Given the description of an element on the screen output the (x, y) to click on. 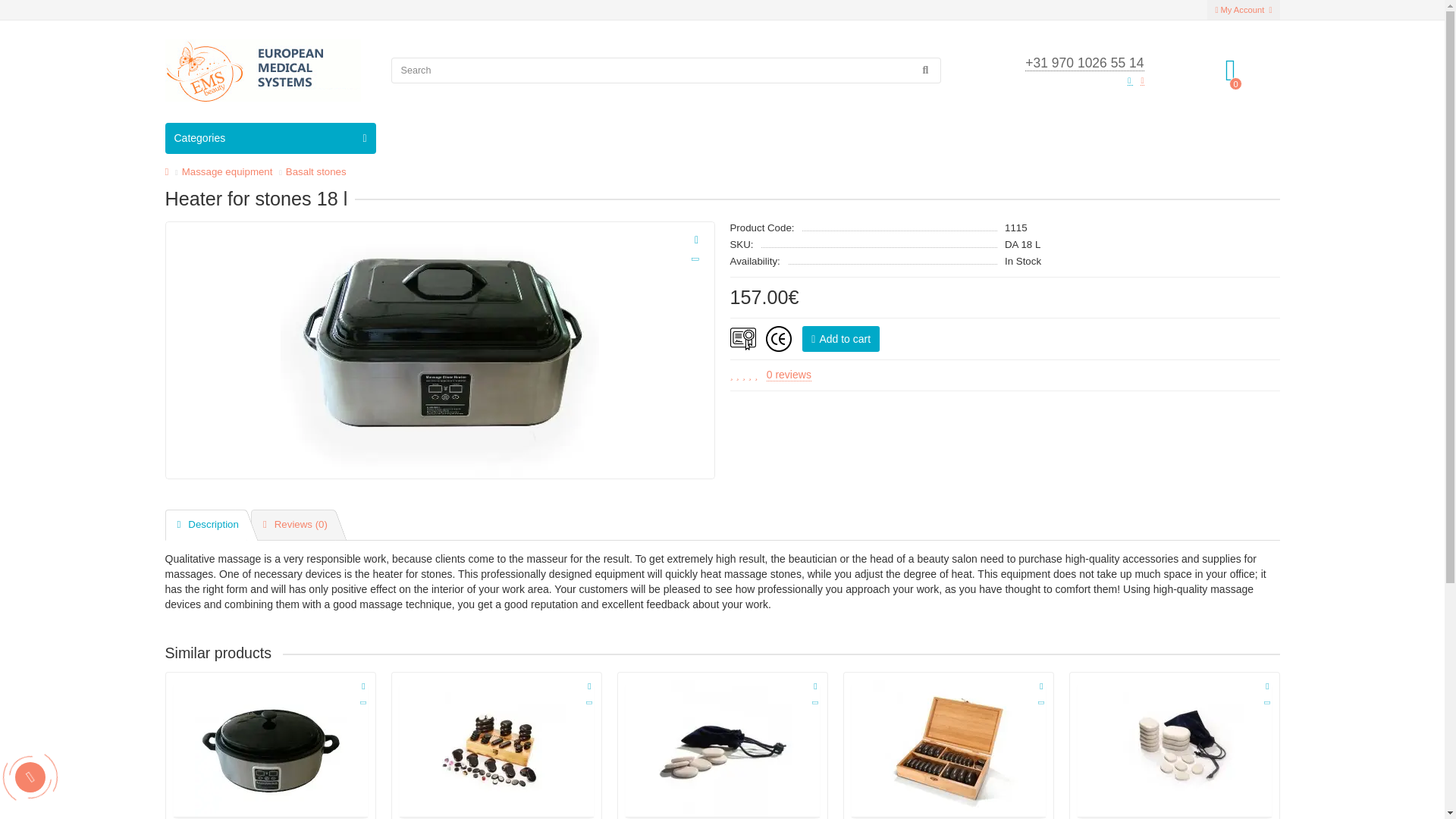
Heater for stones 18 l (439, 350)
Basalt stones (315, 171)
Massage equipment (227, 171)
EMS Beauty UK (263, 70)
Description (206, 524)
My Account (1243, 9)
0 reviews (788, 374)
Add to cart (840, 338)
